Given the description of an element on the screen output the (x, y) to click on. 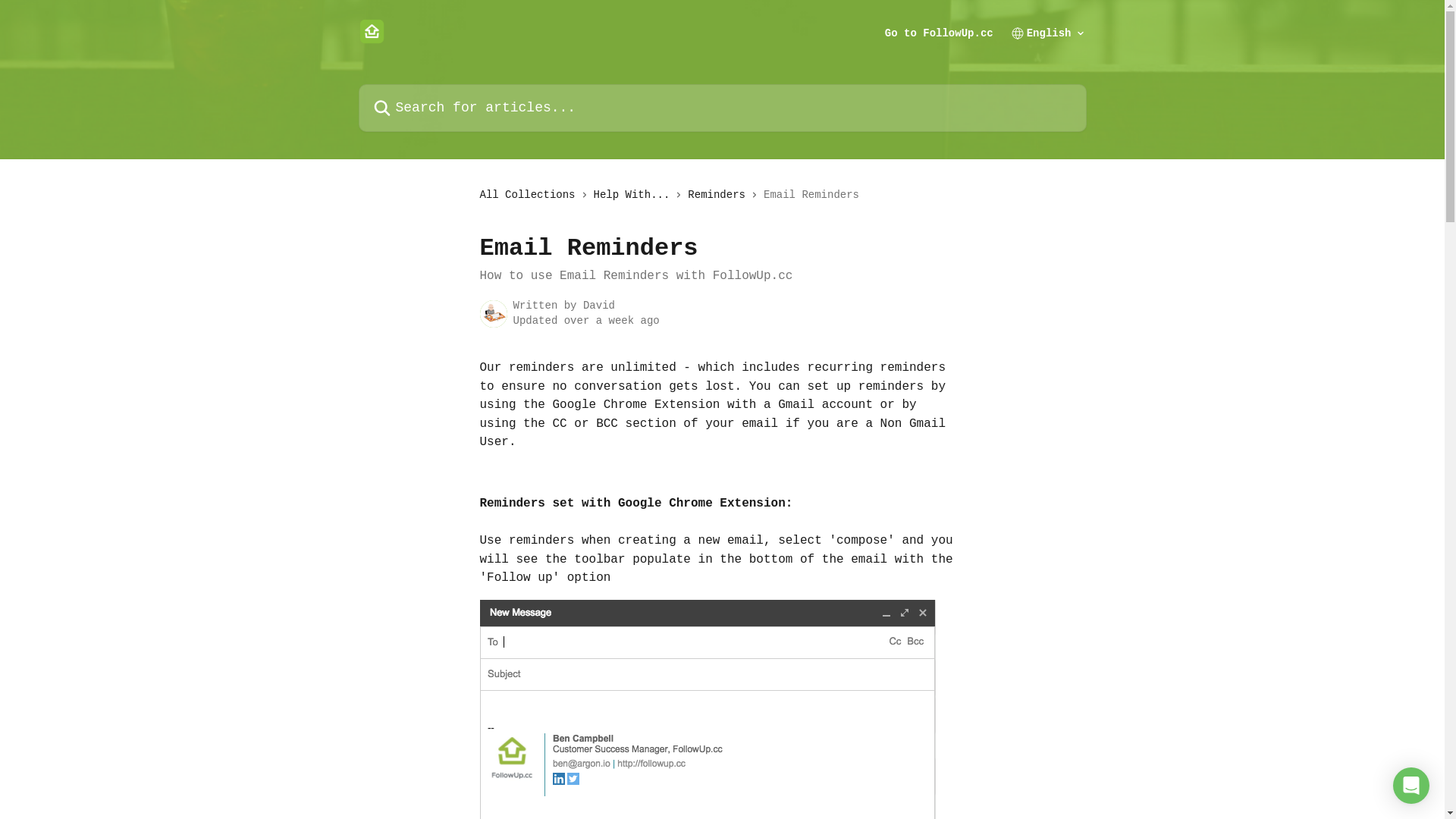
Help With... Element type: text (634, 194)
Go to FollowUp.cc Element type: text (938, 32)
All Collections Element type: text (529, 194)
Reminders Element type: text (719, 194)
